Given the description of an element on the screen output the (x, y) to click on. 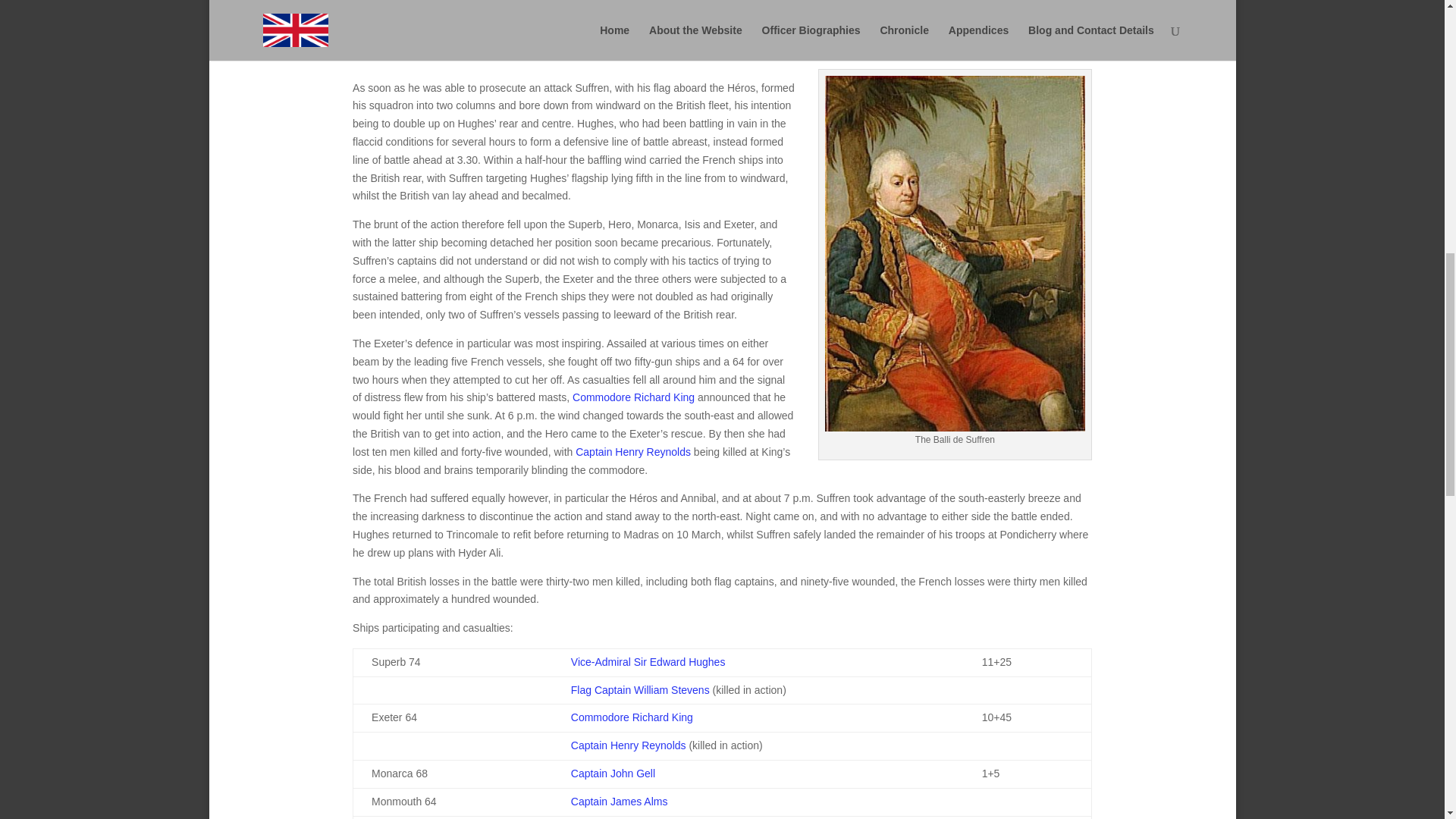
Captain James Alms (619, 801)
Commodore Richard King (631, 717)
Flag Captain William Stevens (640, 689)
Captain Henry Reynolds (627, 745)
Commodore Richard King (633, 397)
Captain Henry Reynolds (632, 451)
Vice-Admiral Sir Edward Hughes (647, 662)
Captain John Gell (612, 773)
